Given the description of an element on the screen output the (x, y) to click on. 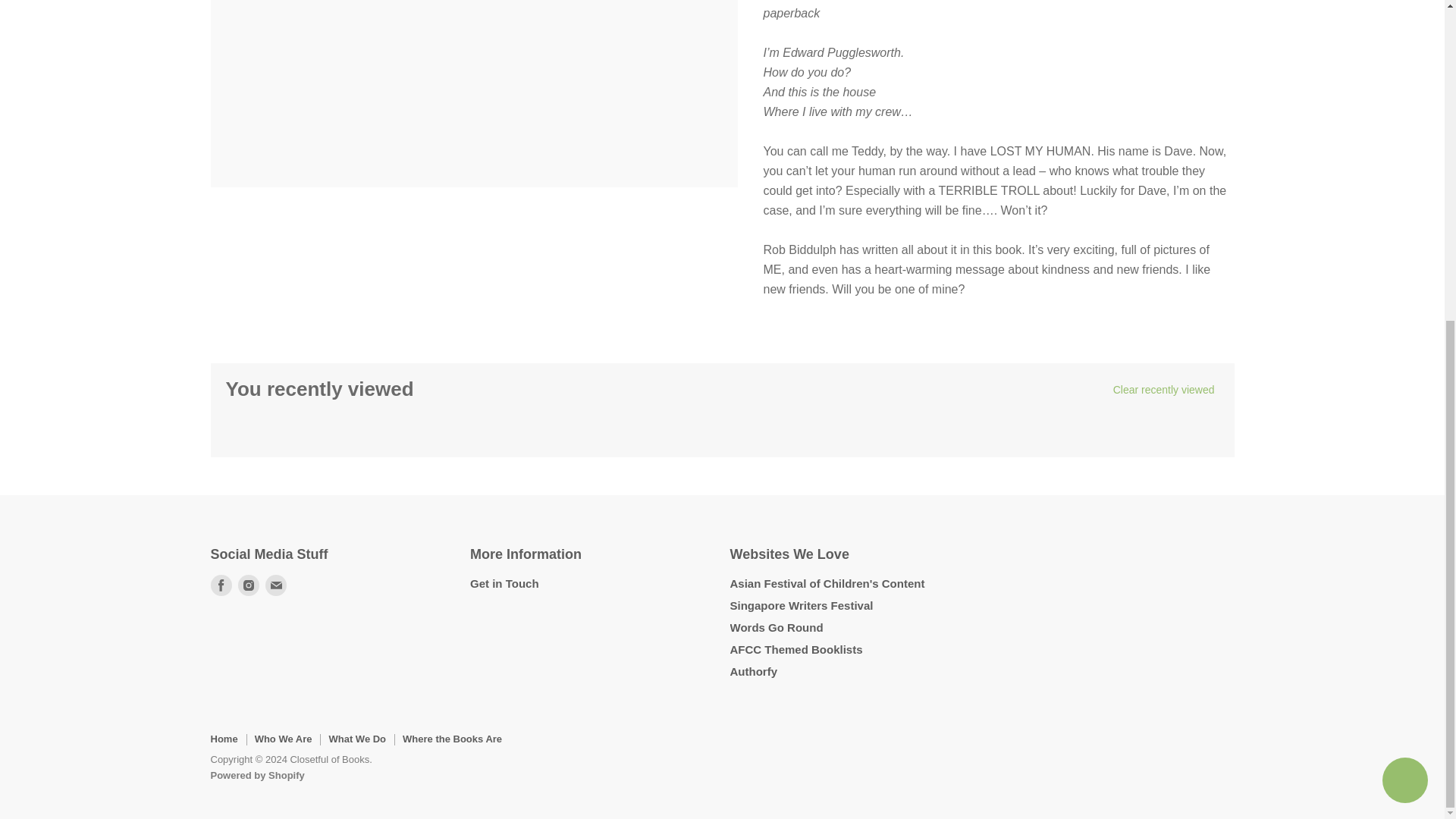
Instagram (248, 584)
Shopify online store chat (1404, 260)
E-mail (275, 584)
Facebook (221, 584)
